Given the description of an element on the screen output the (x, y) to click on. 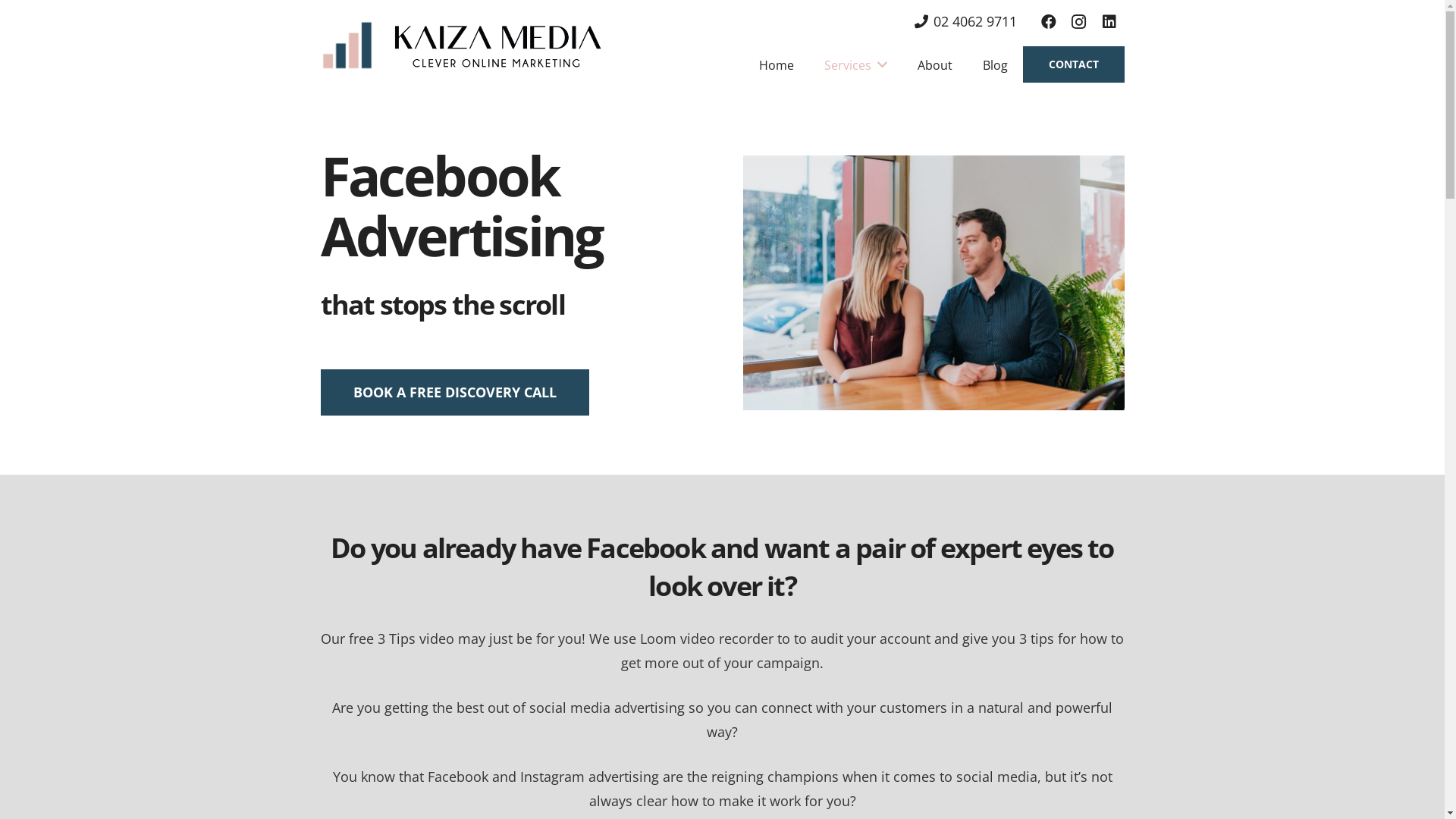
LinkedIn Element type: hover (1108, 21)
Instagram Element type: hover (1078, 21)
Blog Element type: text (994, 65)
Services Element type: text (855, 65)
CONTACT Element type: text (1072, 64)
02 4062 9711 Element type: text (965, 21)
Home Element type: text (776, 65)
BOOK A FREE DISCOVERY CALL Element type: text (454, 392)
About Element type: text (934, 65)
Facebook Element type: hover (1047, 21)
